Given the description of an element on the screen output the (x, y) to click on. 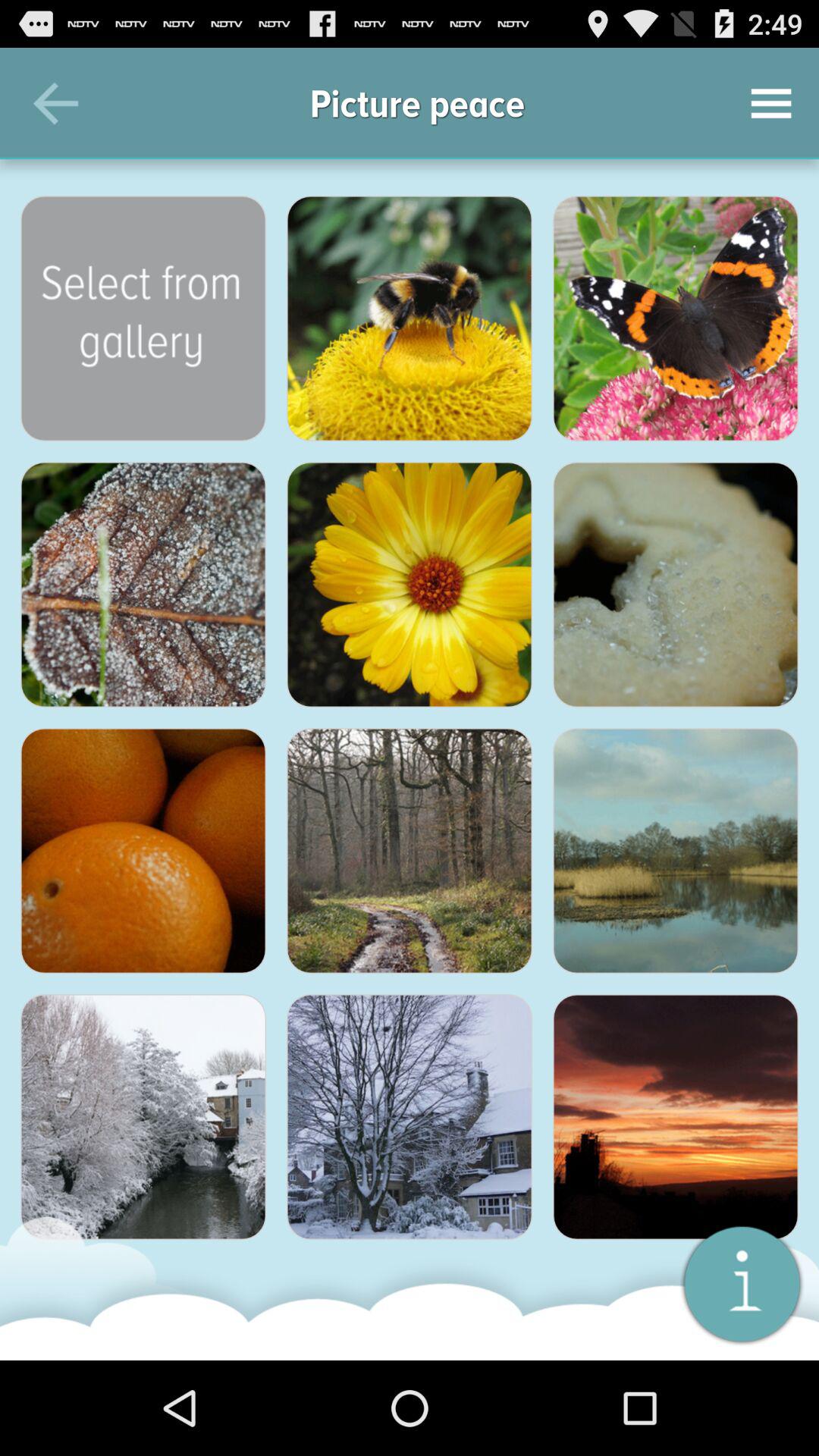
launch the icon next to picture peace item (771, 103)
